Given the description of an element on the screen output the (x, y) to click on. 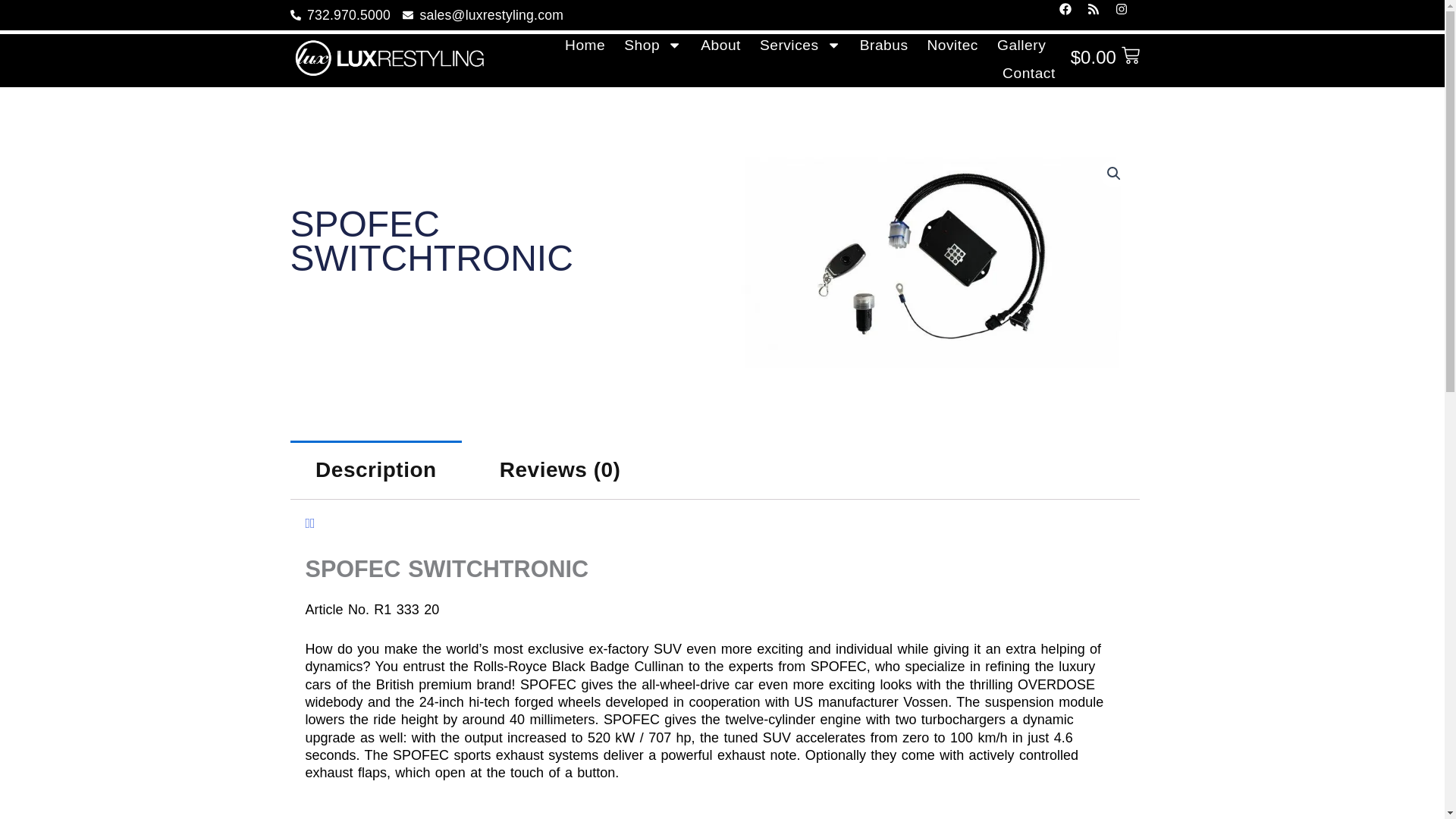
Novitec (951, 44)
Brabus (884, 44)
Shop (652, 44)
Services (800, 44)
Facebook (1070, 15)
Gallery (1021, 44)
Home (584, 44)
Contact (1029, 72)
Instagram (1126, 15)
Rss (1099, 15)
